Given the description of an element on the screen output the (x, y) to click on. 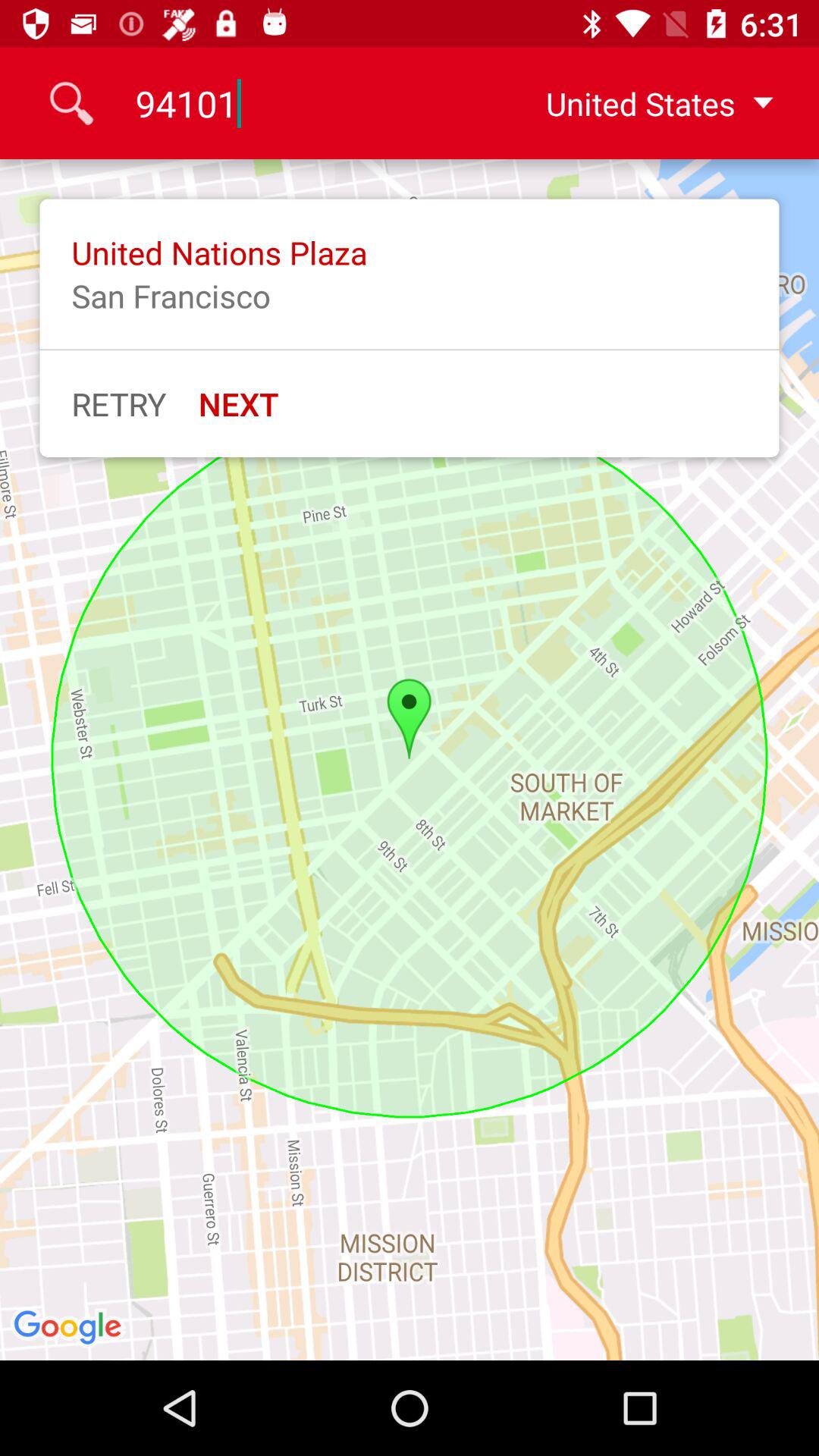
jump until united states icon (647, 103)
